Given the description of an element on the screen output the (x, y) to click on. 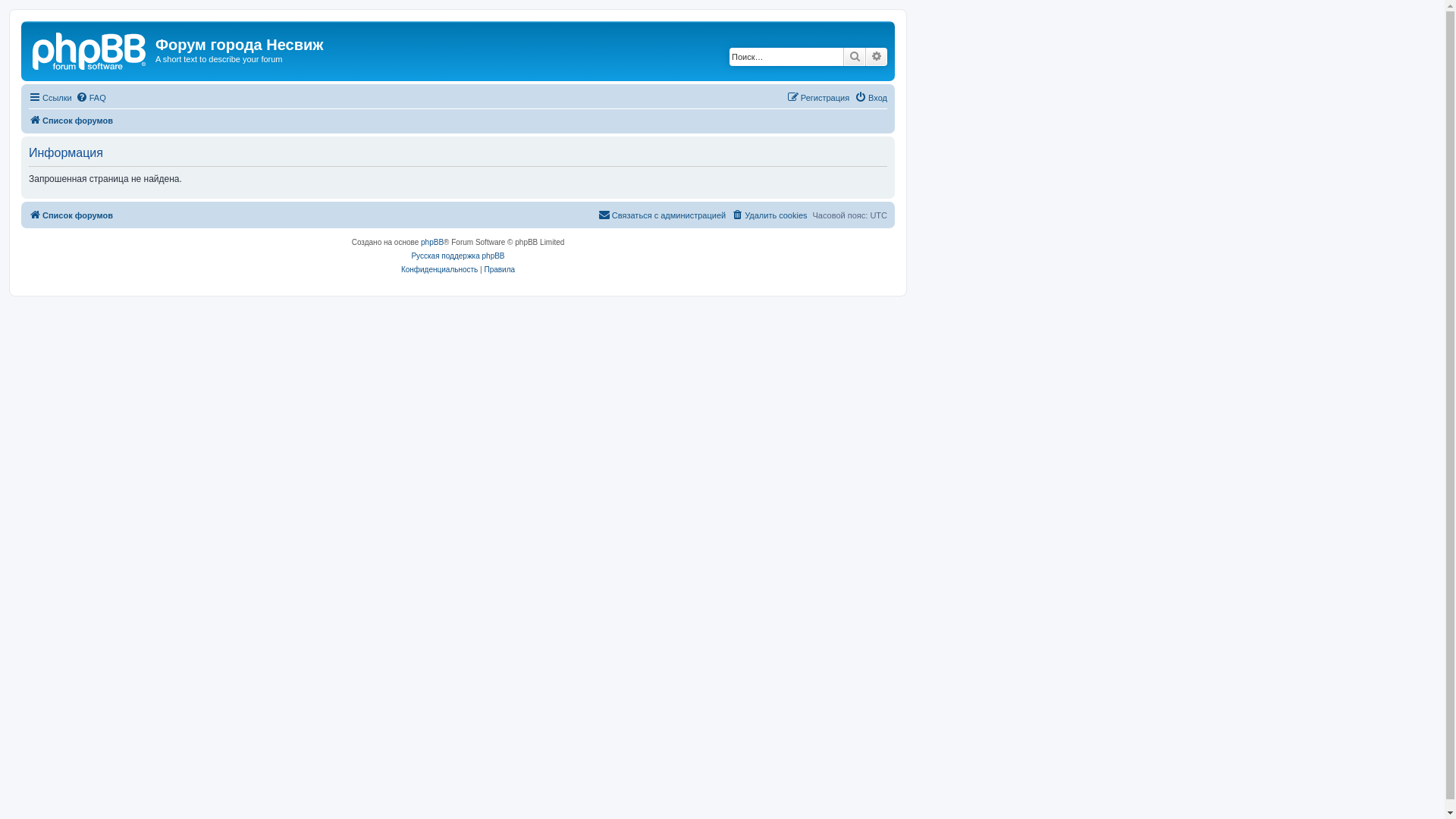
FAQ Element type: text (90, 97)
phpBB Element type: text (431, 242)
